Given the description of an element on the screen output the (x, y) to click on. 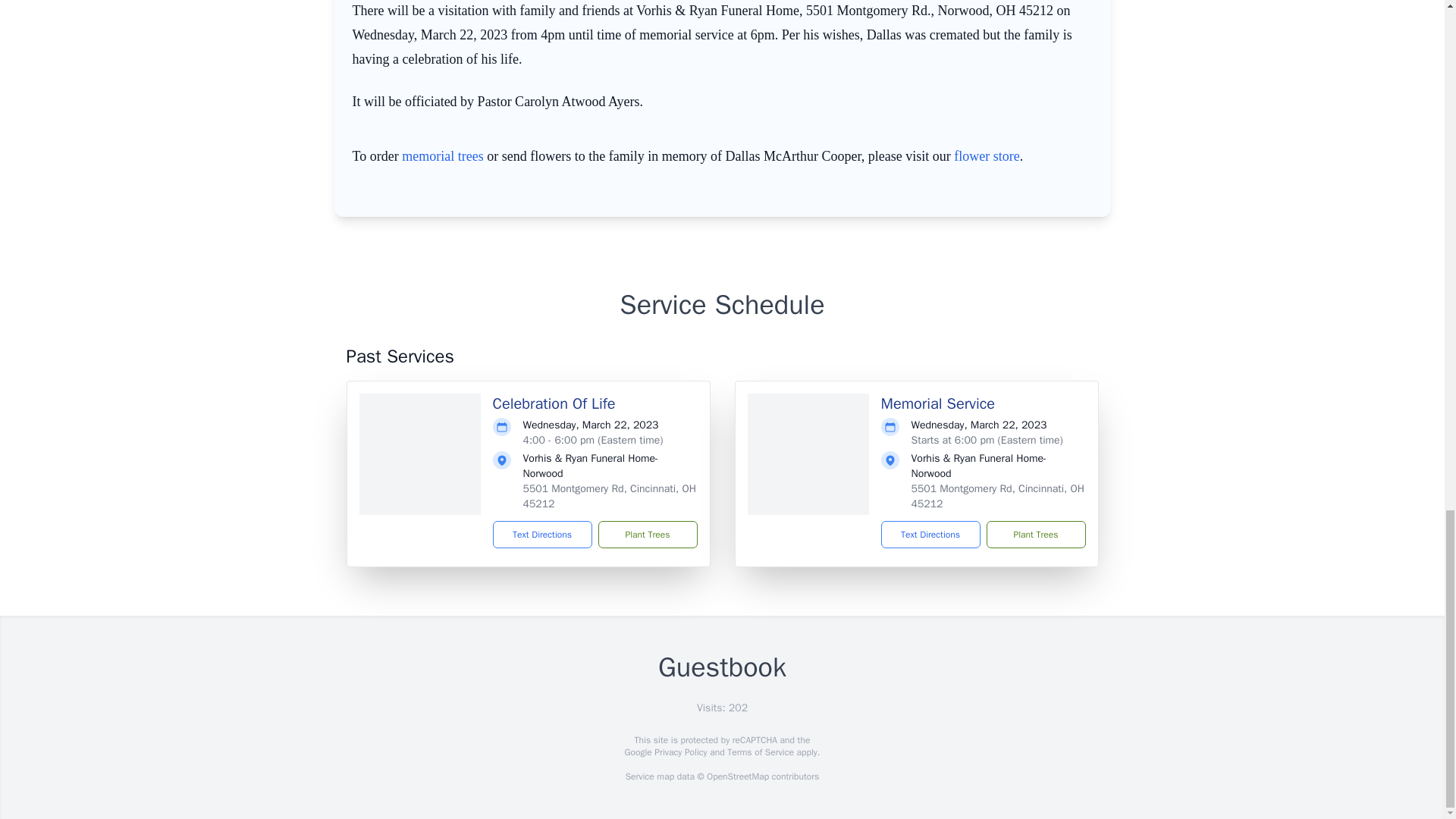
OpenStreetMap (737, 776)
Text Directions (929, 533)
memorial trees (442, 155)
5501 Montgomery Rd, Cincinnati, OH 45212 (997, 496)
Plant Trees (646, 533)
Terms of Service (759, 752)
Privacy Policy (679, 752)
5501 Montgomery Rd, Cincinnati, OH 45212 (608, 496)
Text Directions (542, 533)
Plant Trees (1034, 533)
flower store (986, 155)
